Given the description of an element on the screen output the (x, y) to click on. 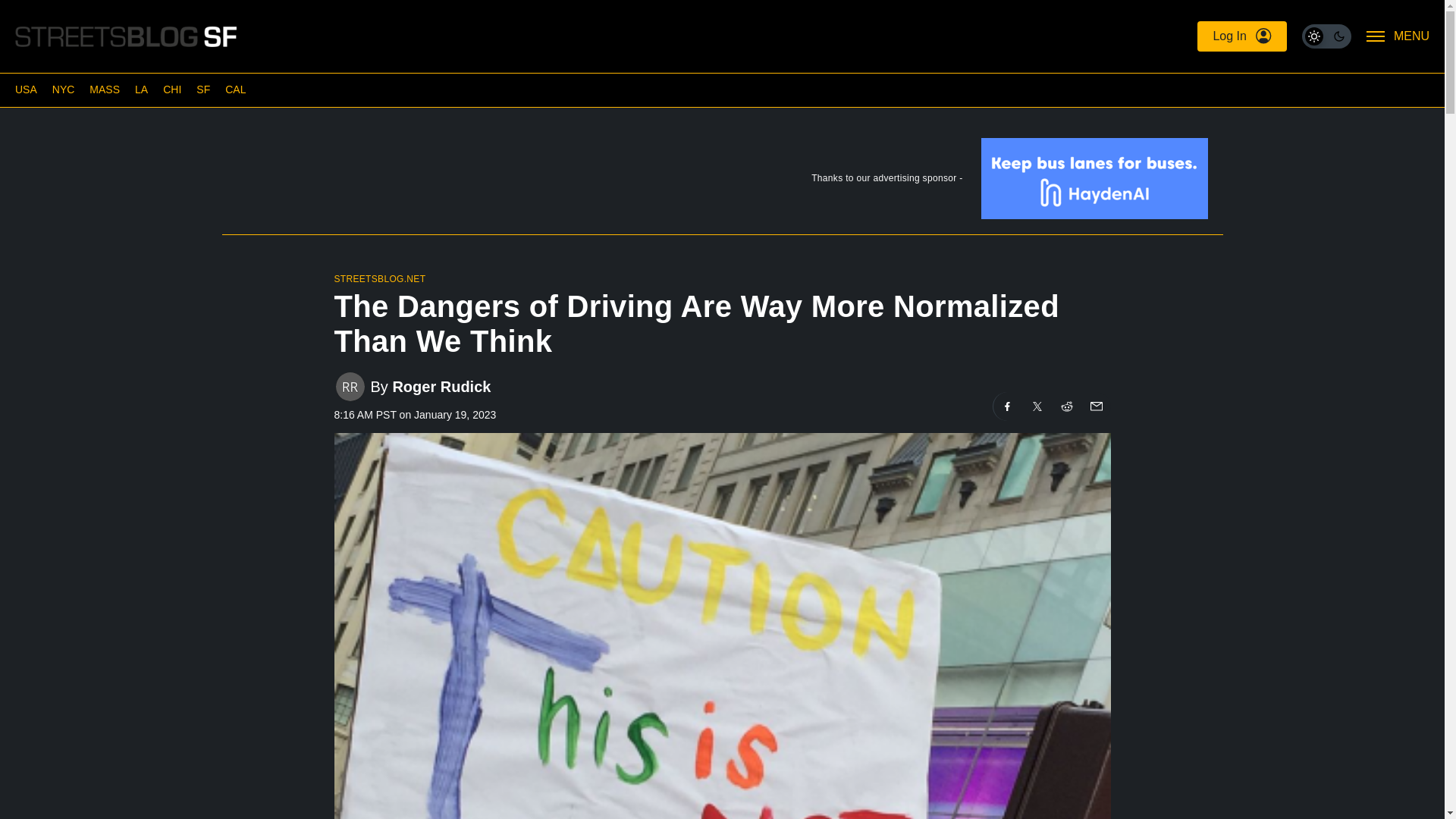
SF (202, 89)
STREETSBLOG.NET (379, 278)
USA (25, 89)
NYC (63, 89)
Share on Facebook (1007, 406)
CAL (235, 89)
Roger Rudick (440, 386)
Thanks to our advertising sponsor - (721, 181)
LA (141, 89)
MENU (1398, 36)
MASS (103, 89)
Log In (1240, 36)
CHI (171, 89)
Share on Reddit (1066, 406)
Share on Email (1095, 406)
